Given the description of an element on the screen output the (x, y) to click on. 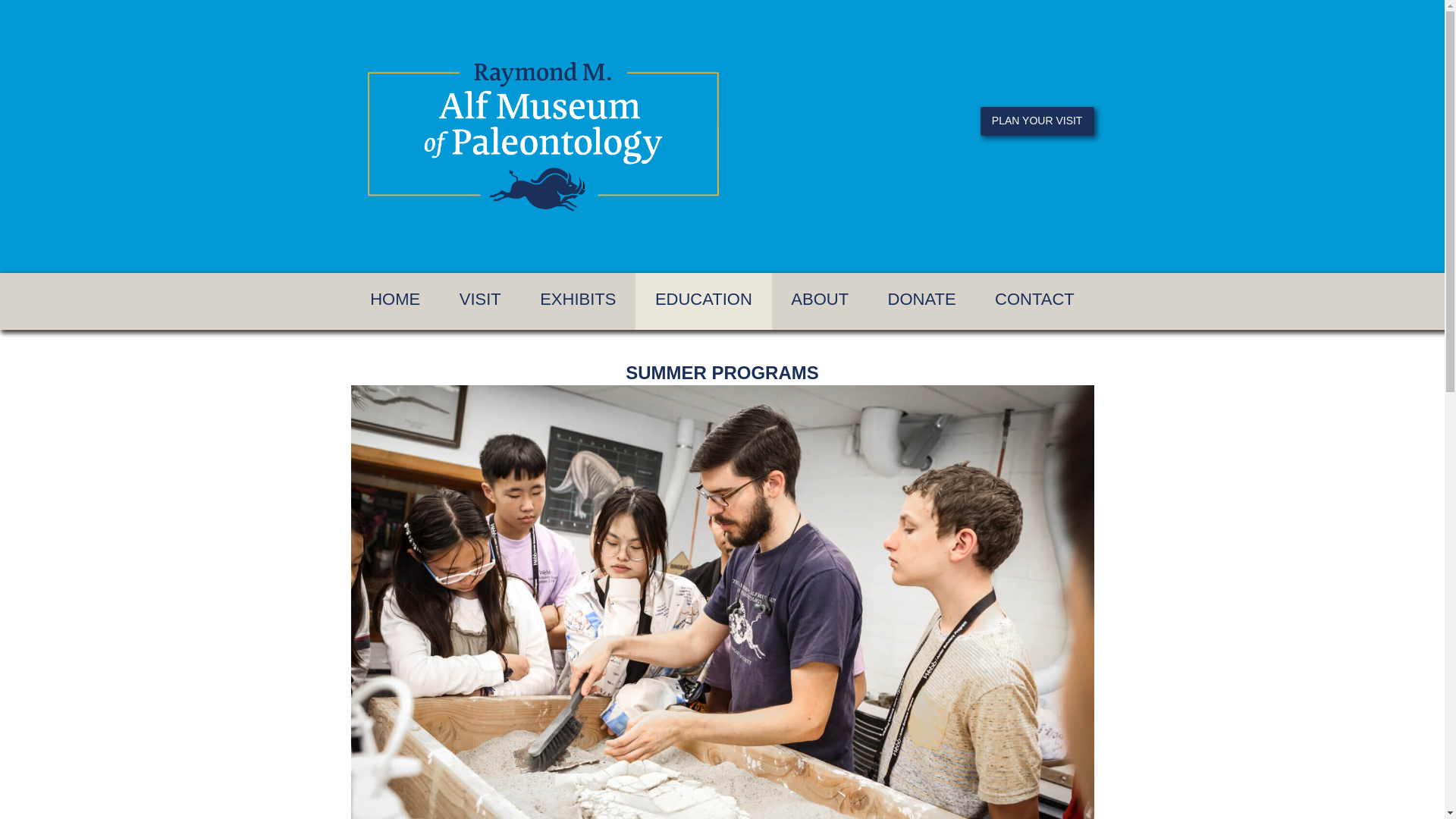
CONTACT (1034, 301)
VISIT (479, 301)
ABOUT (819, 301)
PLAN YOUR VISIT (1036, 121)
HOME (394, 301)
DONATE (921, 301)
EDUCATION (702, 301)
EXHIBITS (576, 301)
